Given the description of an element on the screen output the (x, y) to click on. 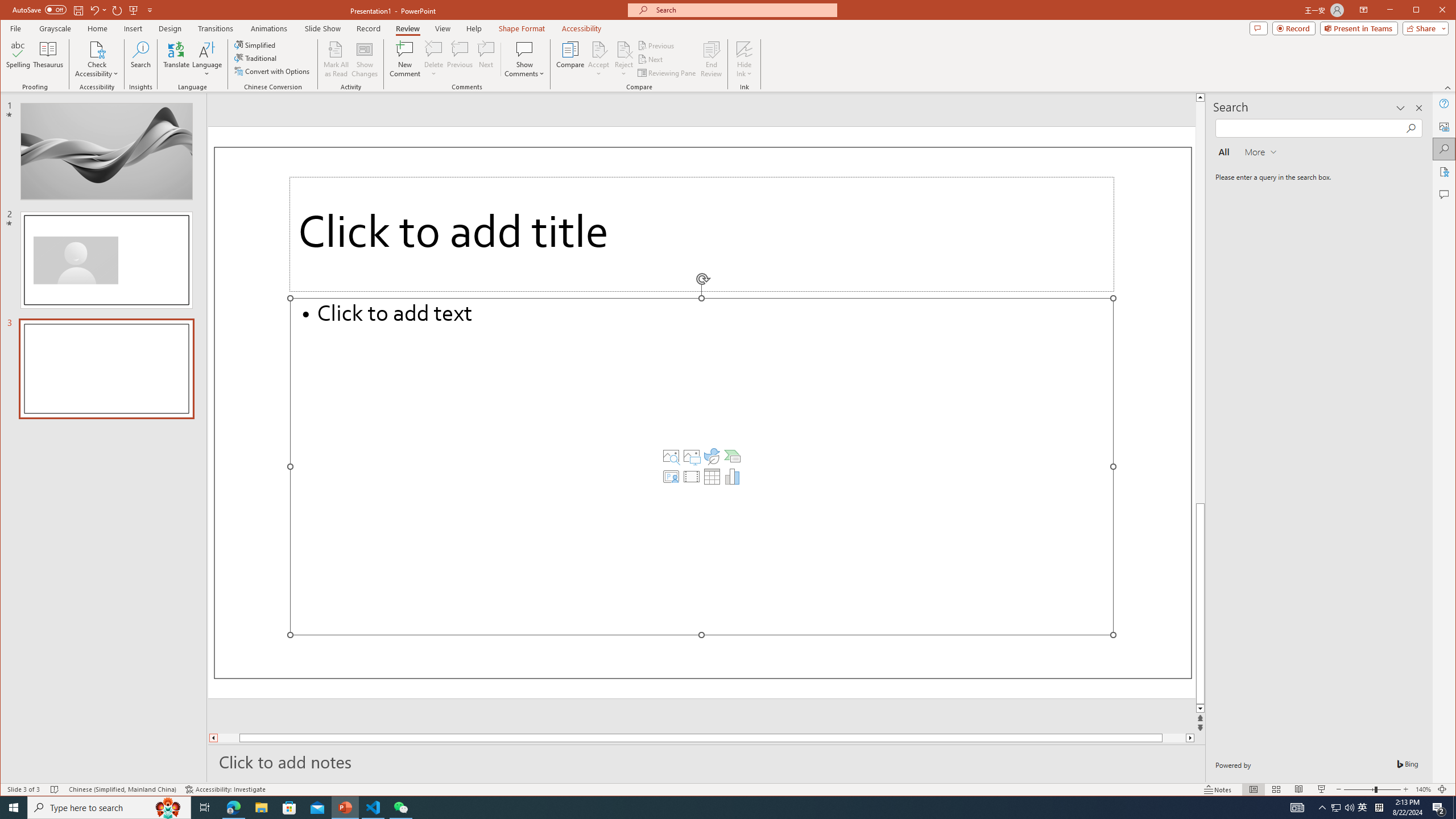
Reviewing Pane (667, 72)
